Given the description of an element on the screen output the (x, y) to click on. 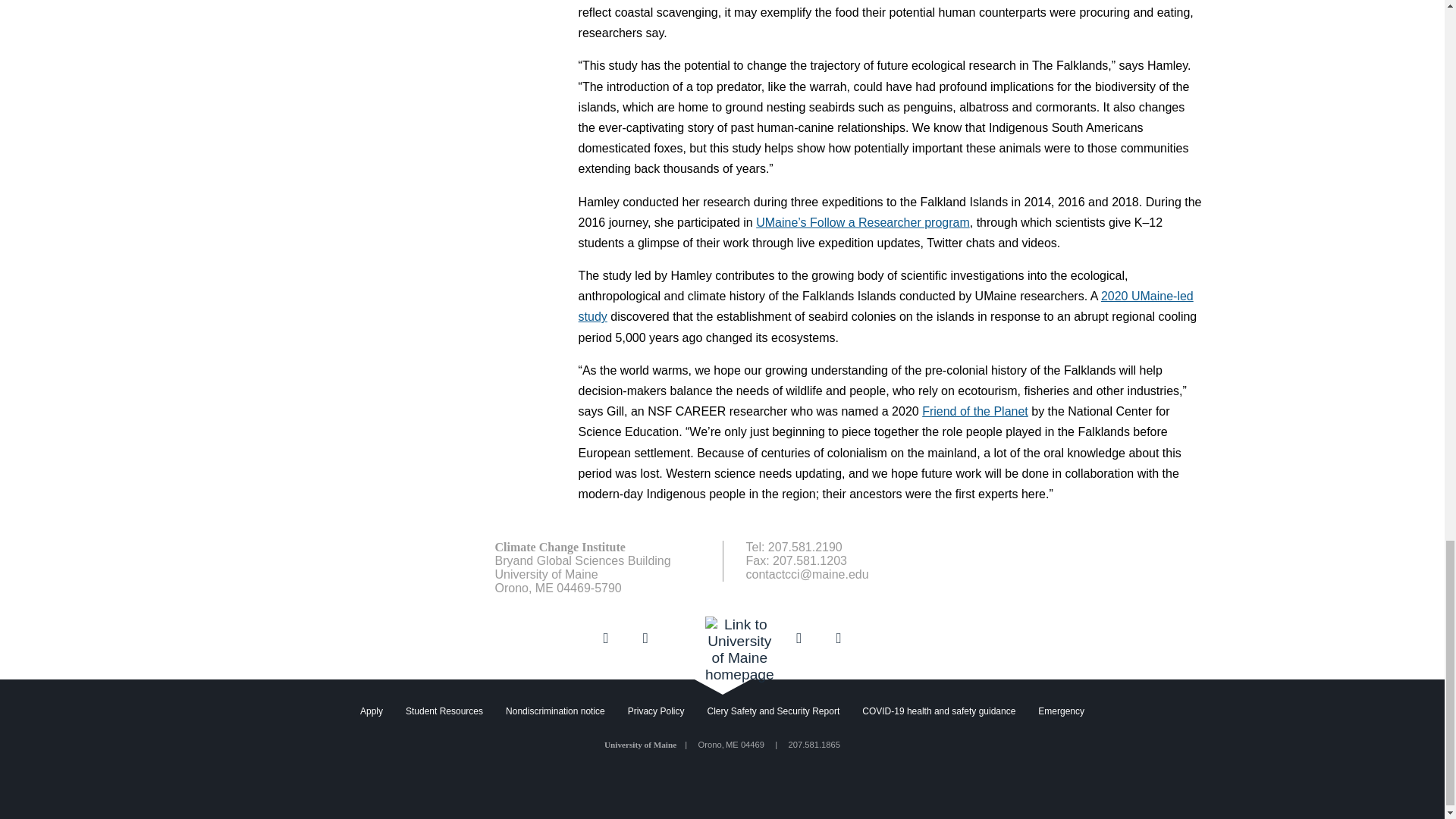
Instagram (838, 637)
Facebook (605, 637)
YouTube (799, 637)
LinkedIn (645, 637)
